Given the description of an element on the screen output the (x, y) to click on. 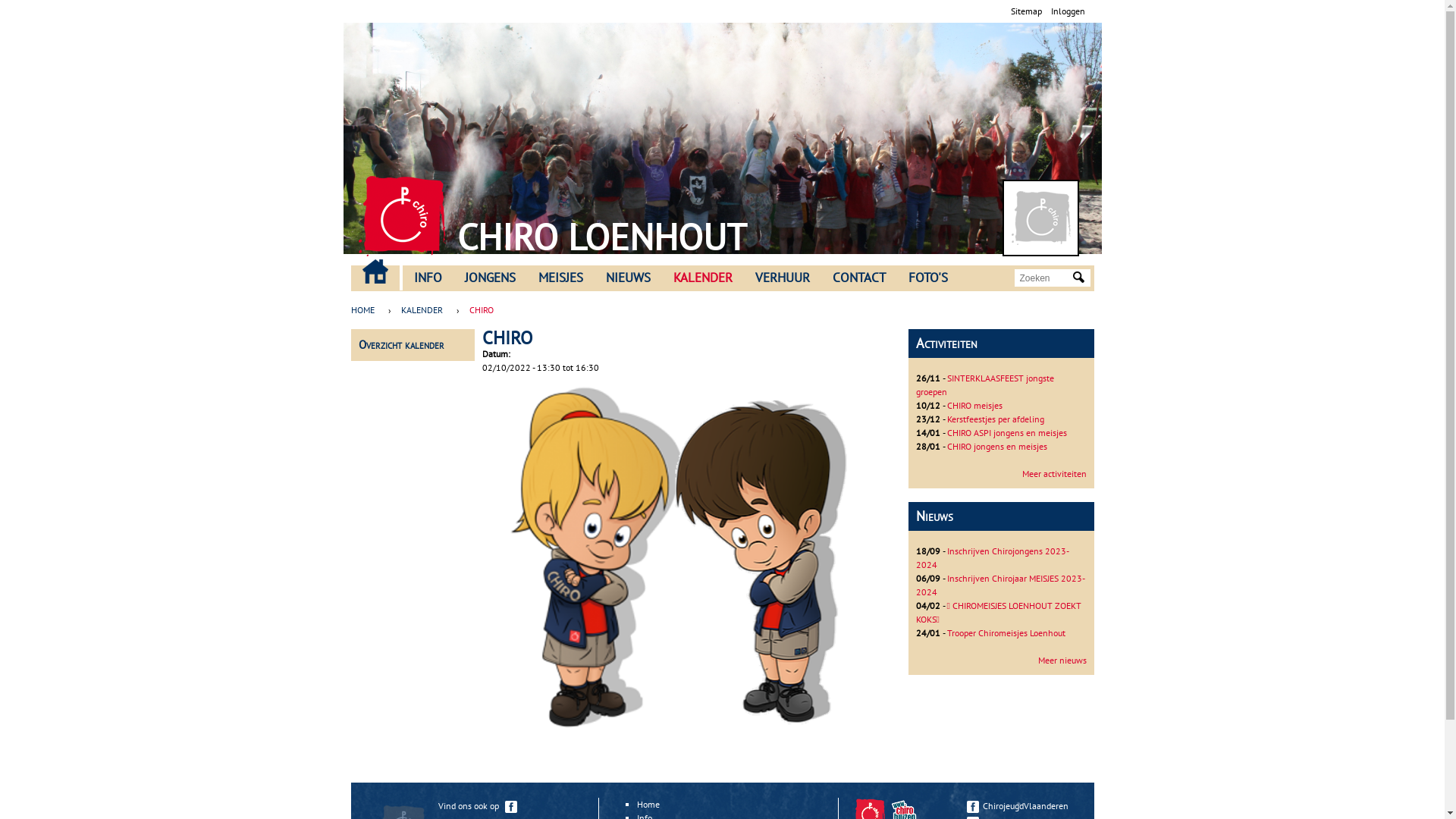
Home Element type: hover (1040, 217)
Facebook Element type: hover (972, 806)
HOME Element type: text (365, 309)
NIEUWS Element type: text (628, 278)
SINTERKLAASFEEST jongste groepen Element type: text (985, 384)
INFO Element type: text (426, 278)
CHIRO LOENHOUT Element type: text (601, 236)
Inschrijven Chirojaar MEISJES 2023-2024 Element type: text (1000, 584)
Inloggen Element type: text (1068, 10)
FOTO'S Element type: text (927, 278)
Facebook Element type: hover (511, 806)
CONTACT Element type: text (858, 278)
CHIRO meisjes Element type: text (973, 405)
KALENDER Element type: text (702, 278)
Trooper Chiromeisjes Loenhout Element type: text (1005, 632)
Inschrijven Chirojongens 2023-2024 Element type: text (992, 557)
Home Element type: hover (401, 215)
CHIRO ASPI jongens en meisjes Element type: text (1006, 432)
Kerstfeestjes per afdeling Element type: text (994, 418)
VERHUUR Element type: text (781, 278)
MEISJES Element type: text (559, 278)
Sitemap Element type: text (1025, 10)
CHIRO jongens en meisjes Element type: text (996, 445)
Meer nieuws Element type: text (1061, 659)
KALENDER Element type: text (420, 309)
HOME Element type: text (374, 271)
Jump to navigation Element type: text (722, 2)
Meer activiteiten Element type: text (1054, 473)
JONGENS Element type: text (490, 278)
Geef de woorden op waarnaar u wilt zoeken. Element type: hover (1043, 277)
ChirojeugdVlaanderen Element type: text (1022, 805)
Overzicht kalender Element type: text (400, 344)
Home Element type: text (648, 803)
